Given the description of an element on the screen output the (x, y) to click on. 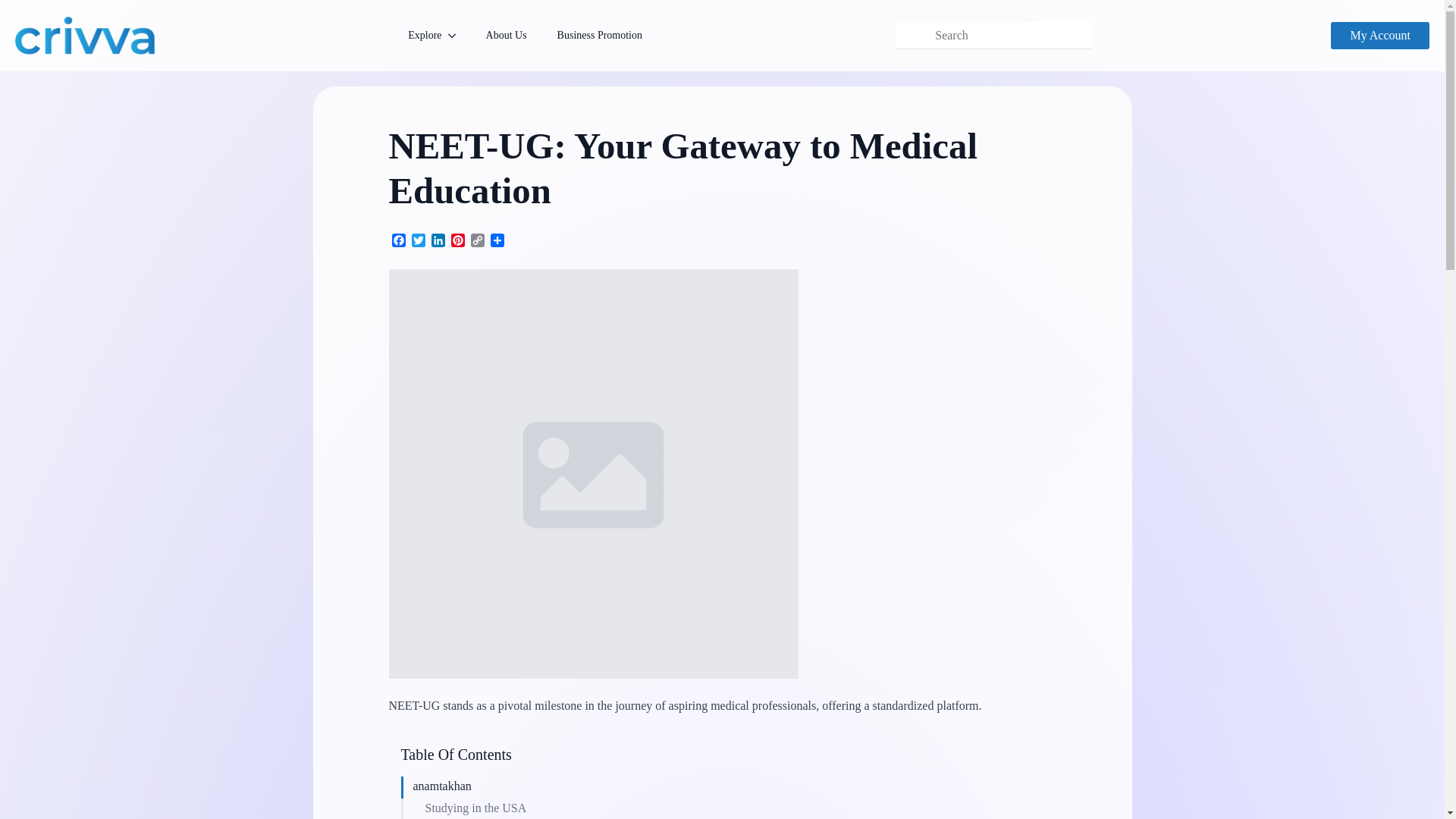
anamtakhan (441, 785)
Pinterest (456, 241)
Studying in the USA (475, 807)
Facebook (397, 241)
Copy Link (476, 241)
Copy Link (476, 241)
About Us (505, 35)
Pinterest (456, 241)
LinkedIn (437, 241)
Twitter (417, 241)
